Given the description of an element on the screen output the (x, y) to click on. 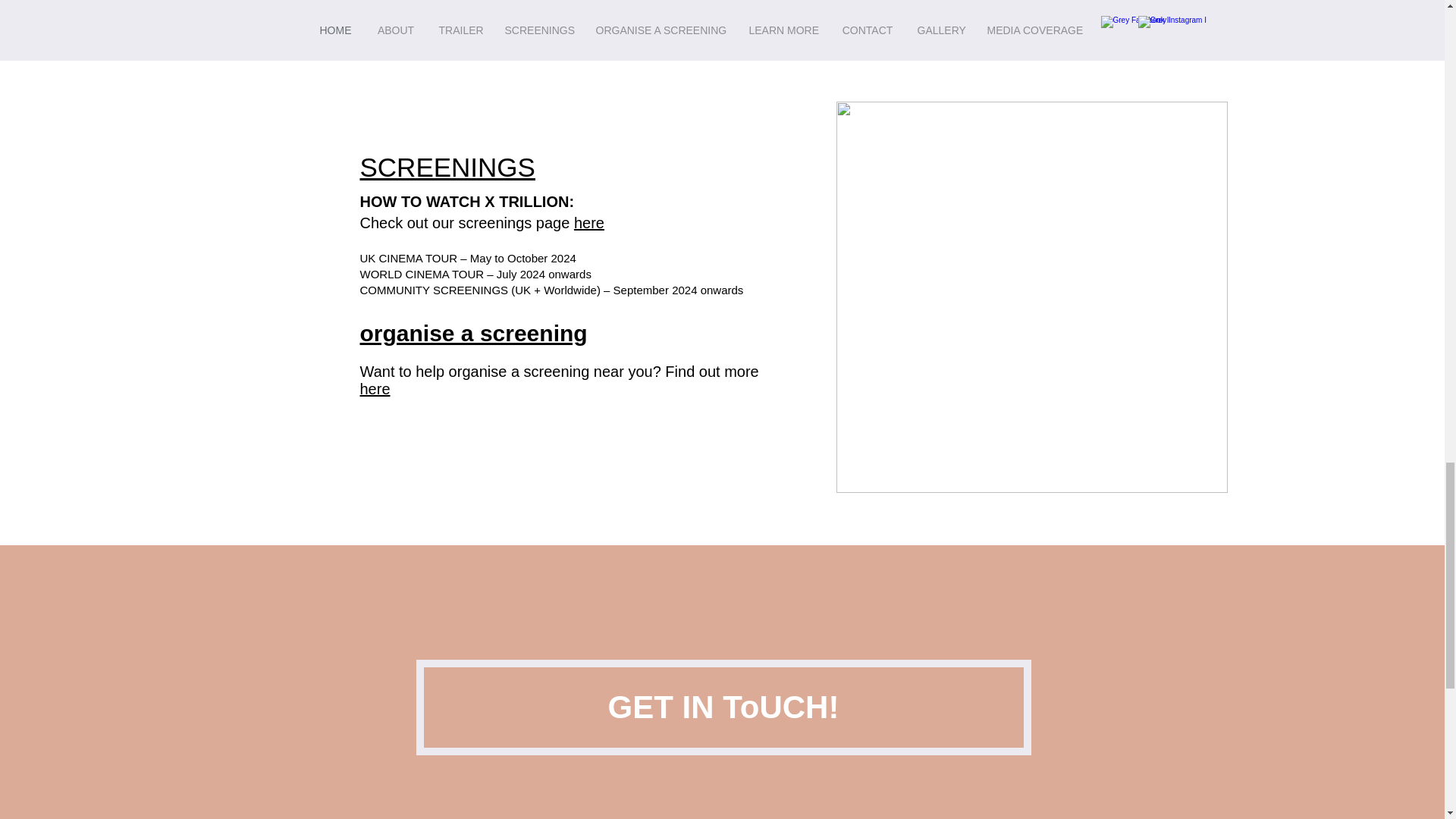
SCREENINGS (446, 166)
here (374, 388)
UK CINEMA TOUR (408, 257)
organise a screening (472, 333)
here (588, 222)
